Given the description of an element on the screen output the (x, y) to click on. 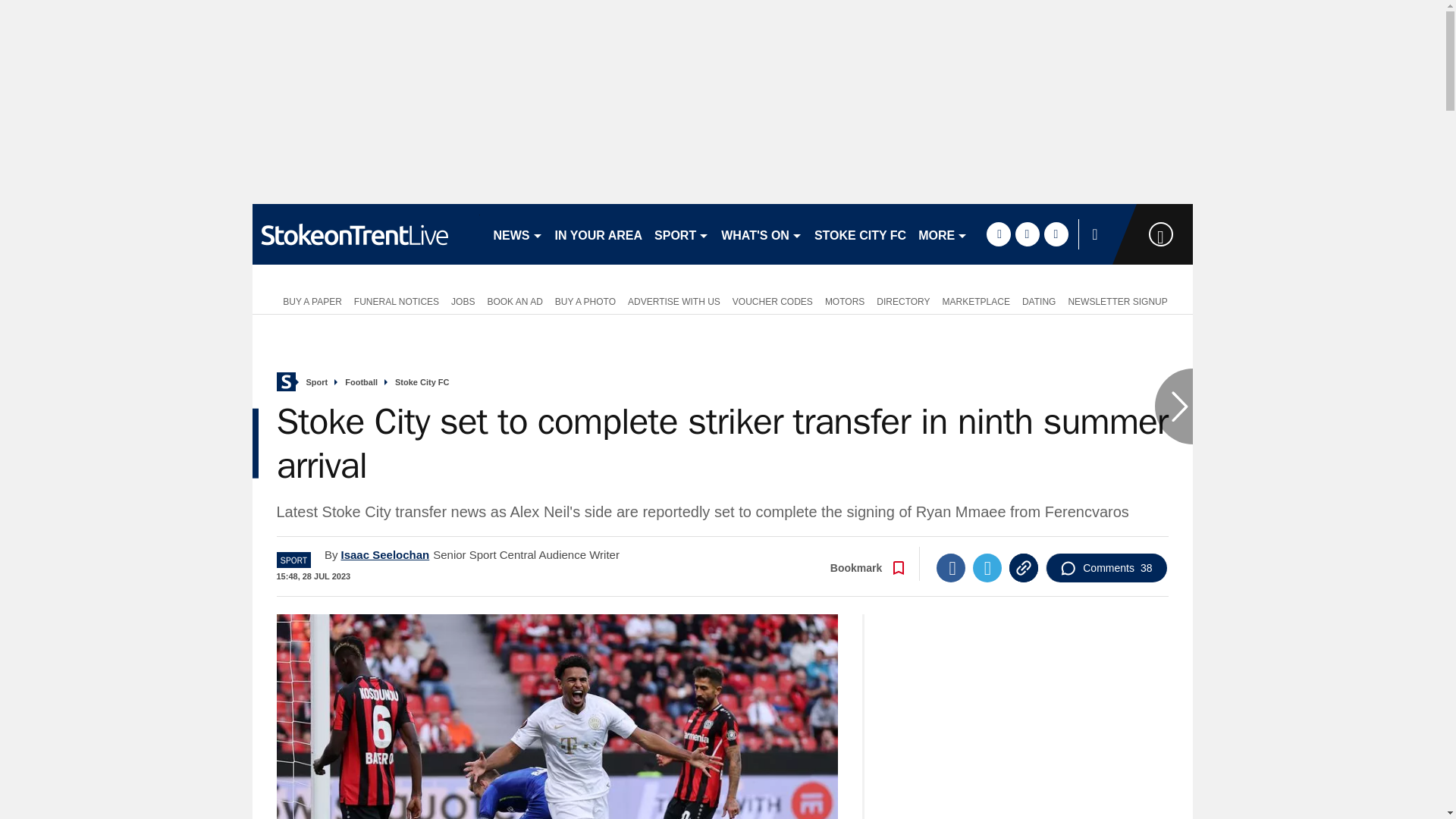
WHAT'S ON (761, 233)
IN YOUR AREA (598, 233)
Facebook (950, 567)
NEWS (517, 233)
instagram (1055, 233)
SPORT (680, 233)
stokesentinel (365, 233)
STOKE CITY FC (860, 233)
Twitter (986, 567)
facebook (997, 233)
